Given the description of an element on the screen output the (x, y) to click on. 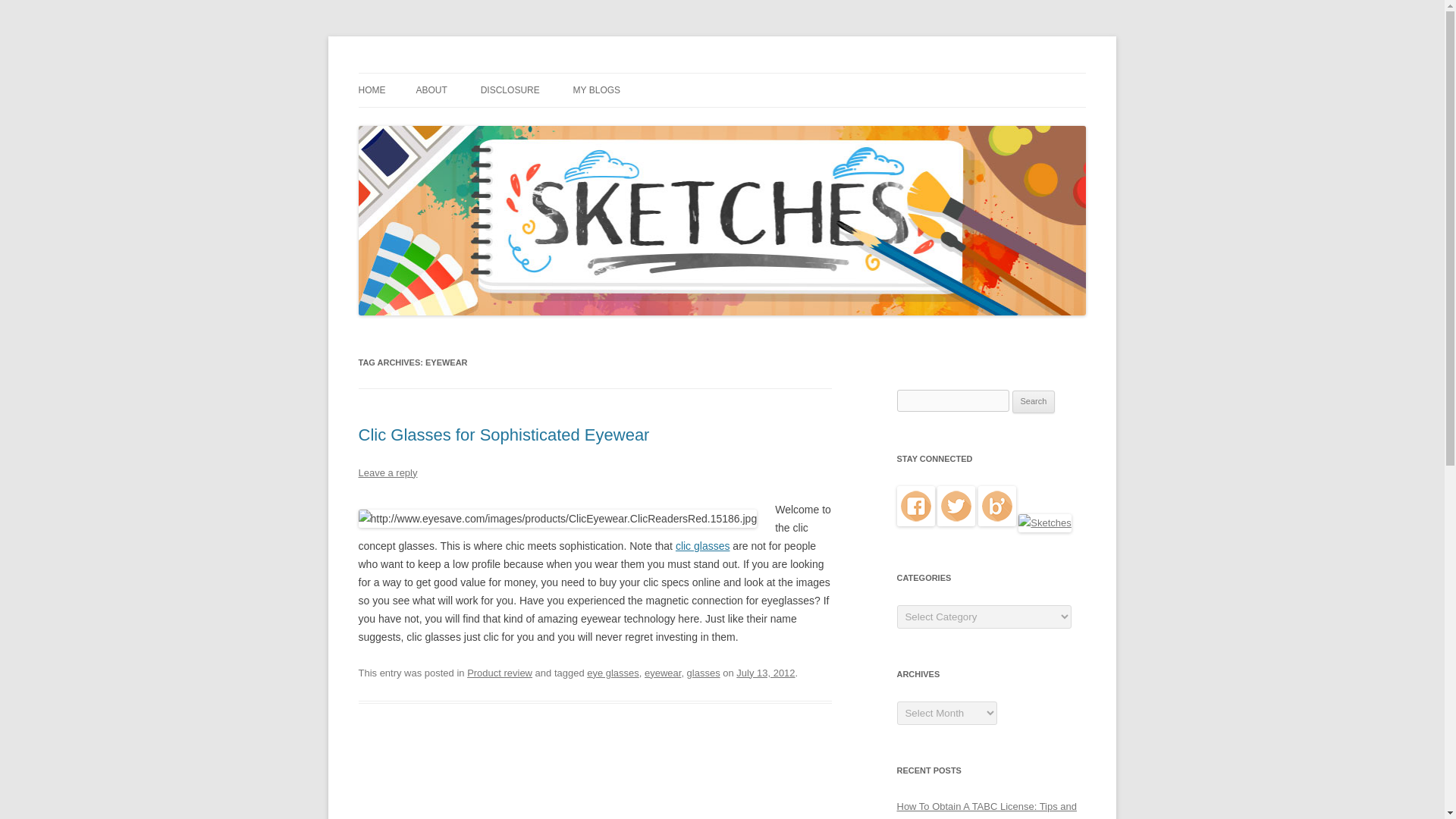
Search (1033, 401)
MY BLOGS (596, 90)
glasses (703, 672)
eye glasses (612, 672)
How To Obtain A TABC License: Tips and Best Practices (985, 809)
DISCLOSURE (510, 90)
ABOUT (430, 90)
Clic Glasses for Sophisticated Eyewear (503, 434)
Search (1033, 401)
Sketches (401, 72)
eyewear (663, 672)
clic glasses (702, 545)
1:31 pm (765, 672)
July 13, 2012 (765, 672)
